Given the description of an element on the screen output the (x, y) to click on. 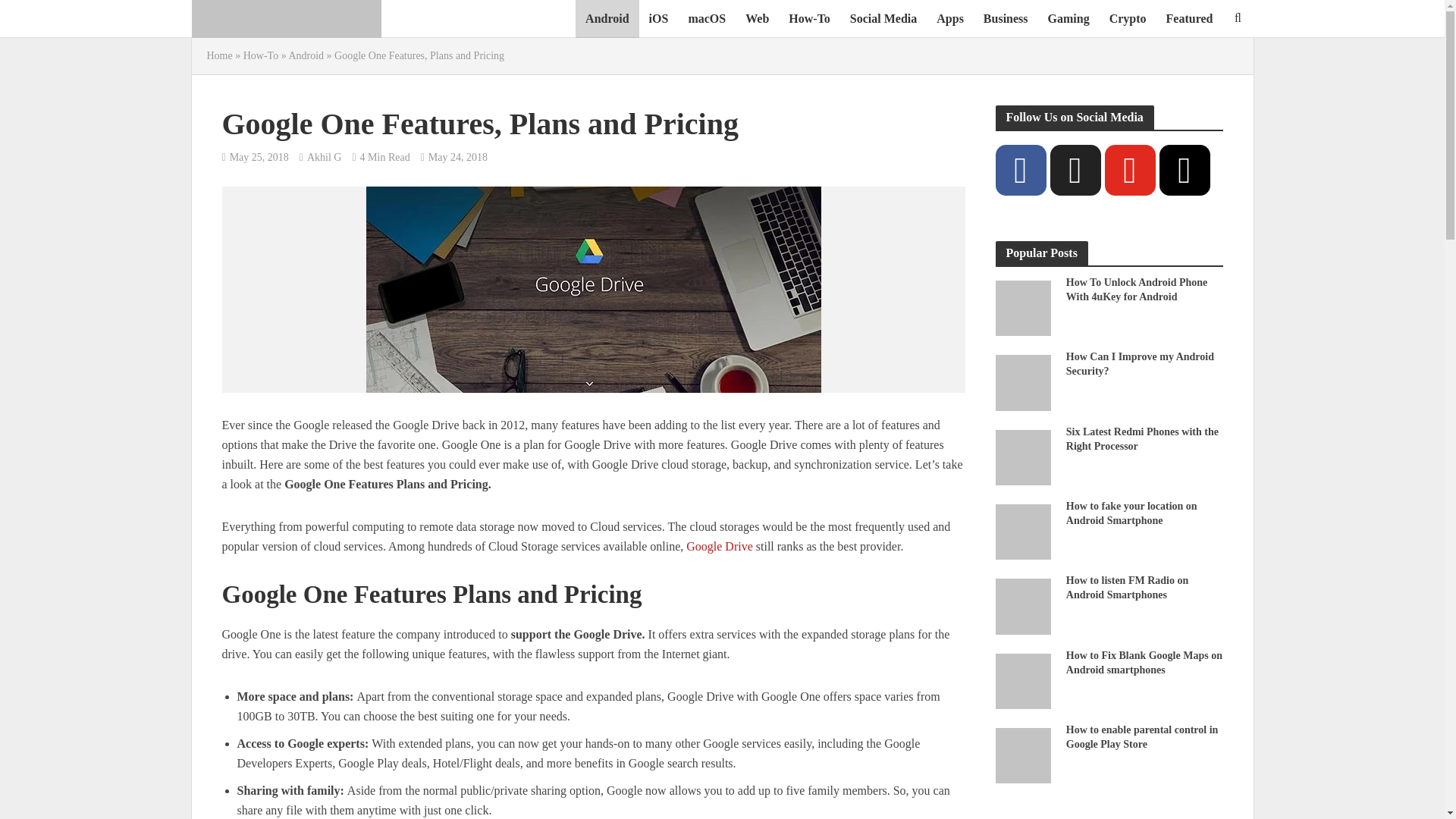
Home (218, 55)
Featured (1189, 18)
YouTube (1128, 169)
Android (607, 18)
macOS (706, 18)
How-To (809, 18)
Crypto (1127, 18)
How to Fix Blank Google Maps on Android smartphones (1021, 680)
How-To (260, 55)
How to fake your location on Android Smartphone (1021, 530)
